Given the description of an element on the screen output the (x, y) to click on. 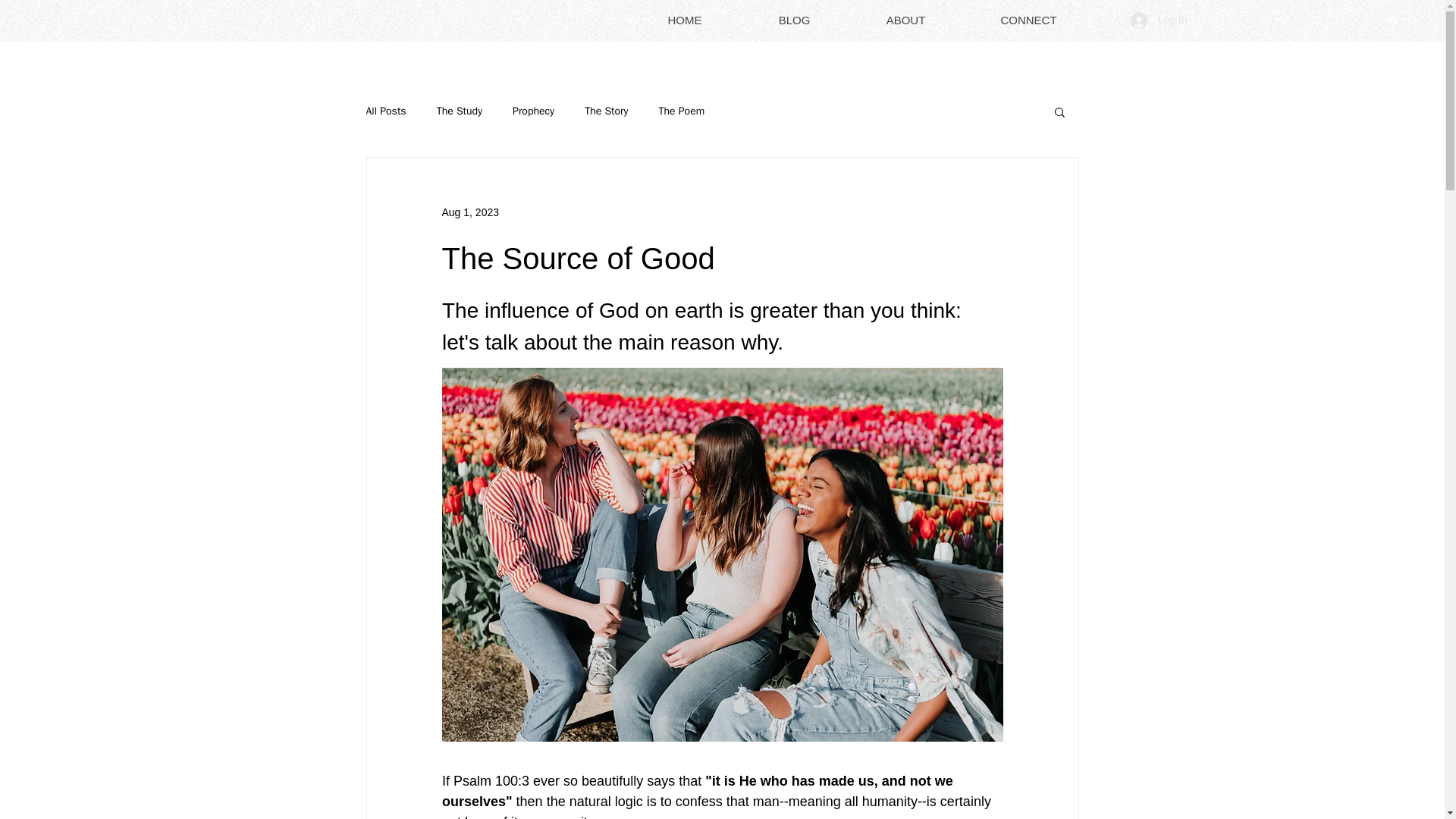
CONNECT (1028, 19)
ABOUT (904, 19)
The Study (458, 110)
Aug 1, 2023 (470, 212)
Log In (1158, 20)
Prophecy (533, 110)
BLOG (793, 19)
The Poem (681, 110)
All Posts (385, 110)
The Story (606, 110)
HOME (683, 19)
